Given the description of an element on the screen output the (x, y) to click on. 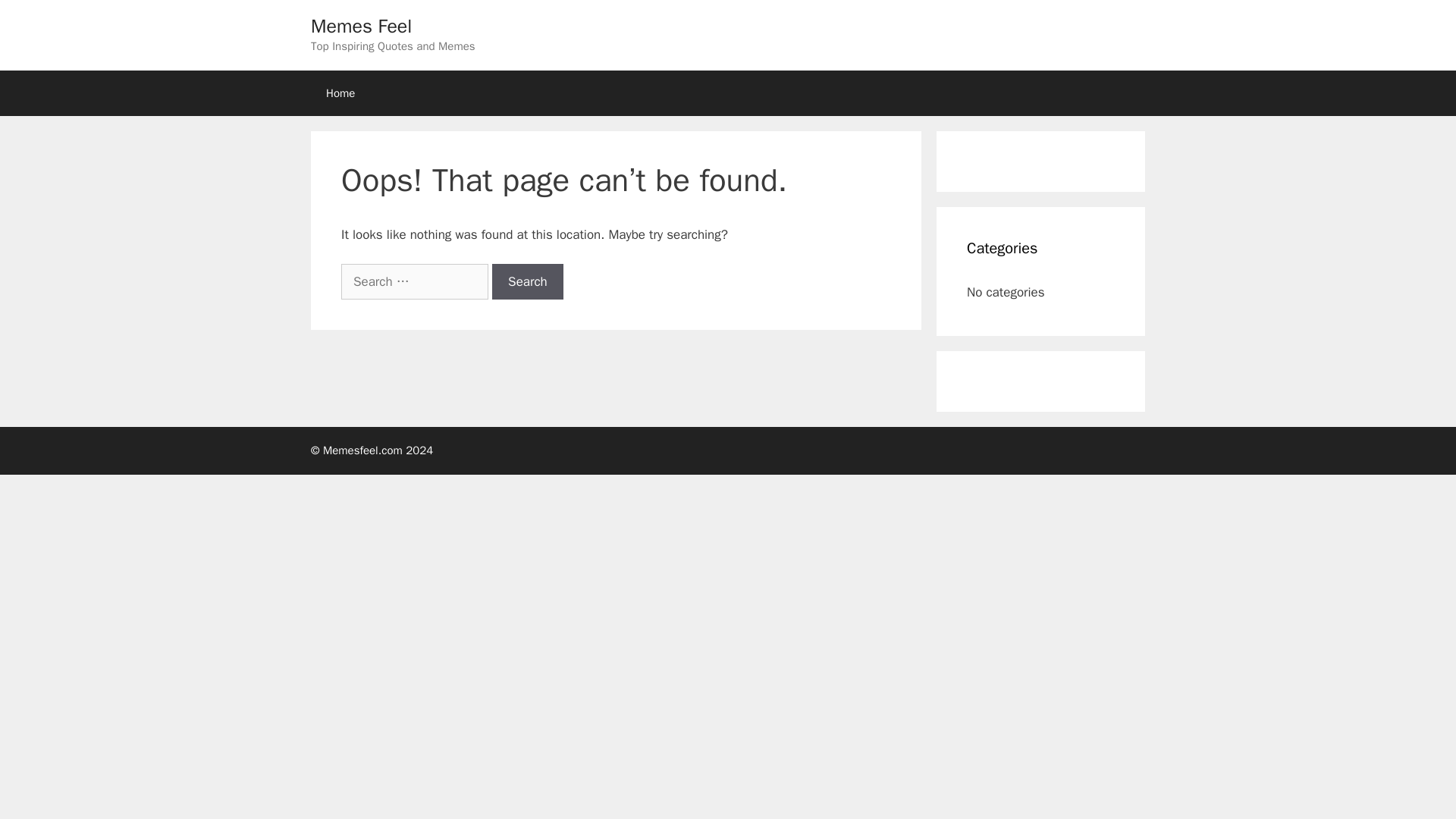
Memes Feel (361, 25)
Home (340, 92)
Search (527, 281)
Search (527, 281)
Search for: (413, 281)
Search (527, 281)
